Given the description of an element on the screen output the (x, y) to click on. 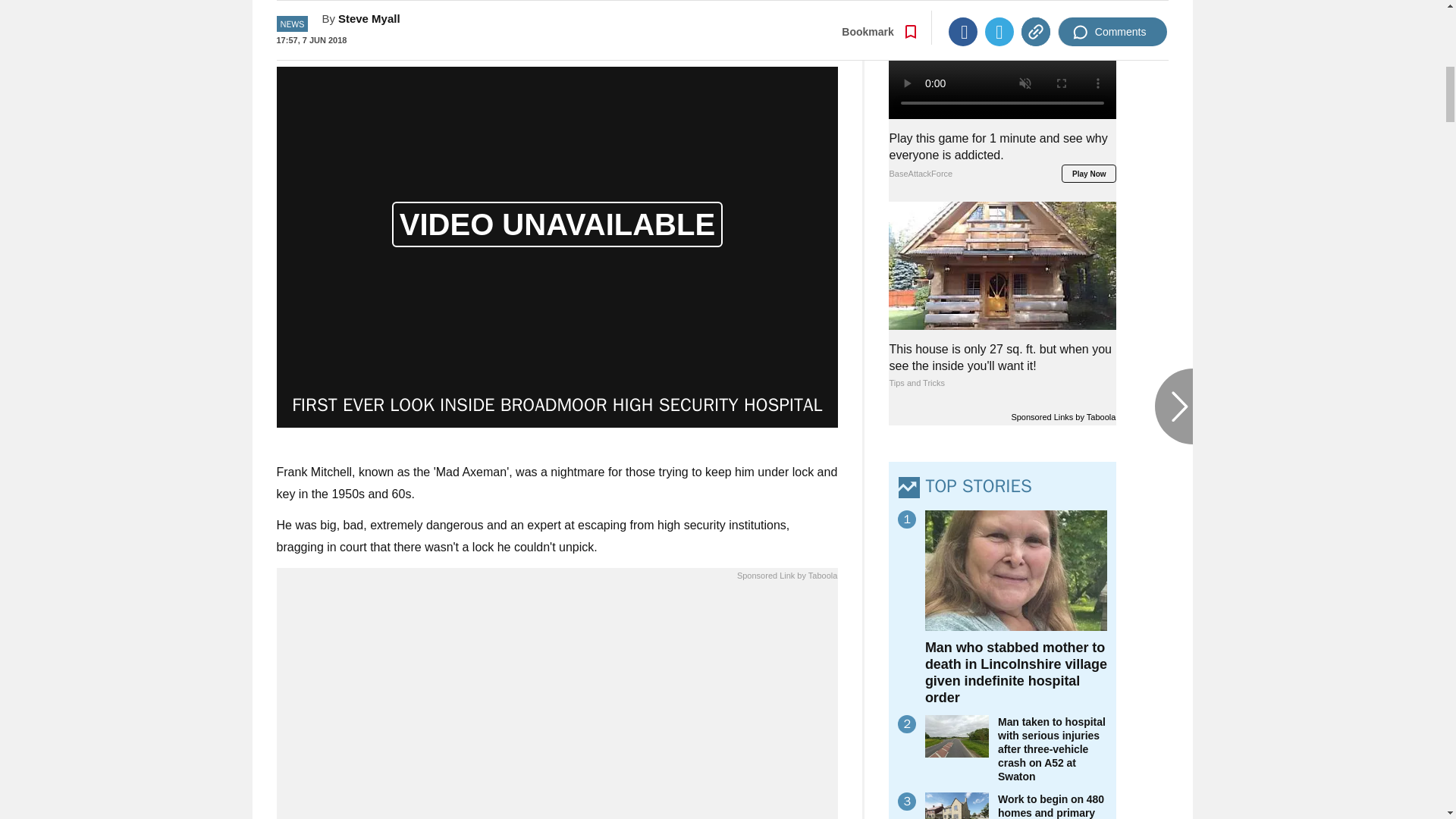
Go (730, 17)
